Given the description of an element on the screen output the (x, y) to click on. 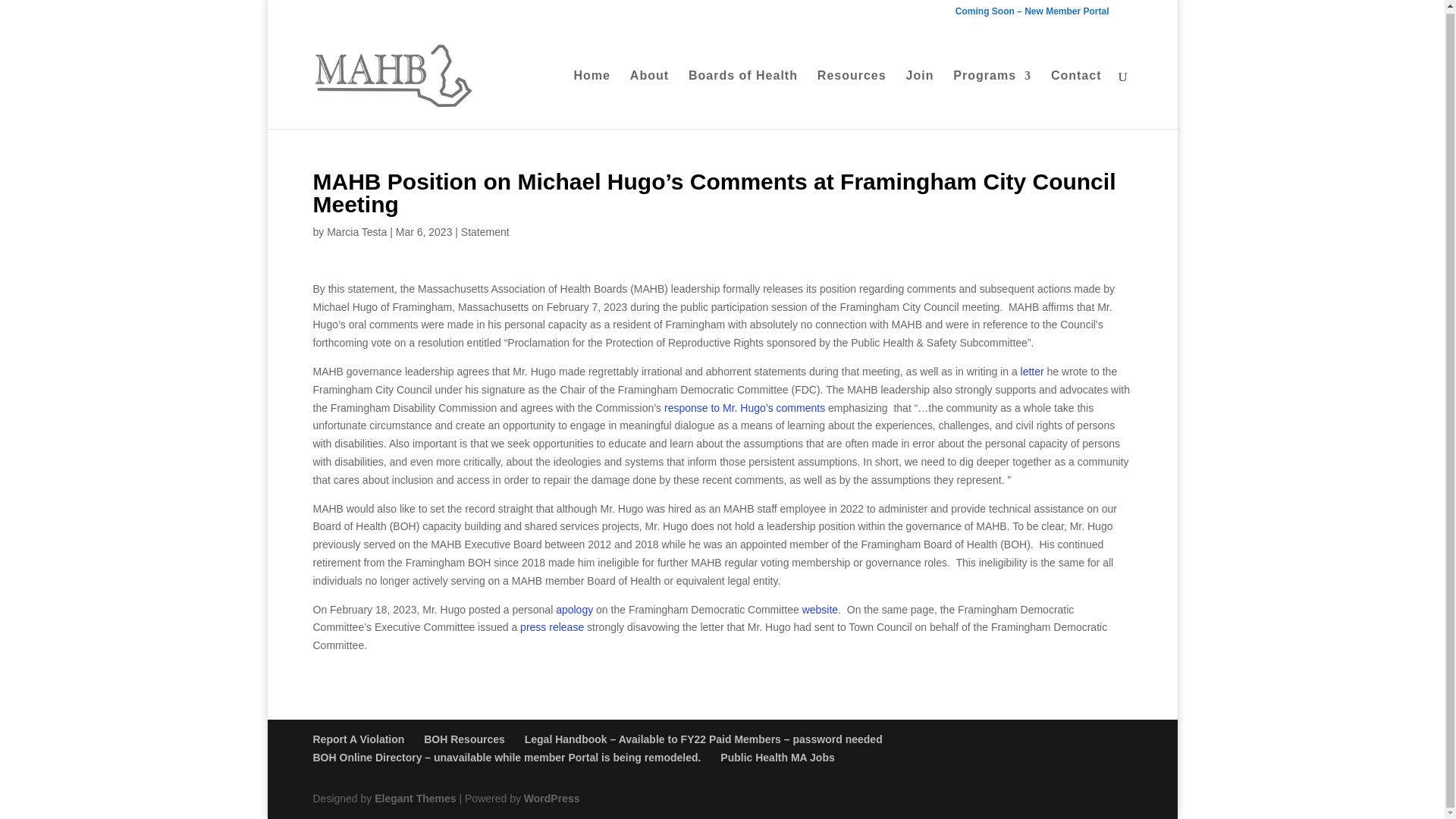
Marcia Testa (356, 232)
Posts by Marcia Testa (356, 232)
Statement (485, 232)
BOH Resources (464, 739)
Report A Violation (358, 739)
Resources (851, 96)
website (820, 609)
Boards of Health (742, 96)
Programs (991, 96)
Premium WordPress Themes (414, 798)
apology (575, 609)
press release (551, 626)
letter (1031, 371)
